Given the description of an element on the screen output the (x, y) to click on. 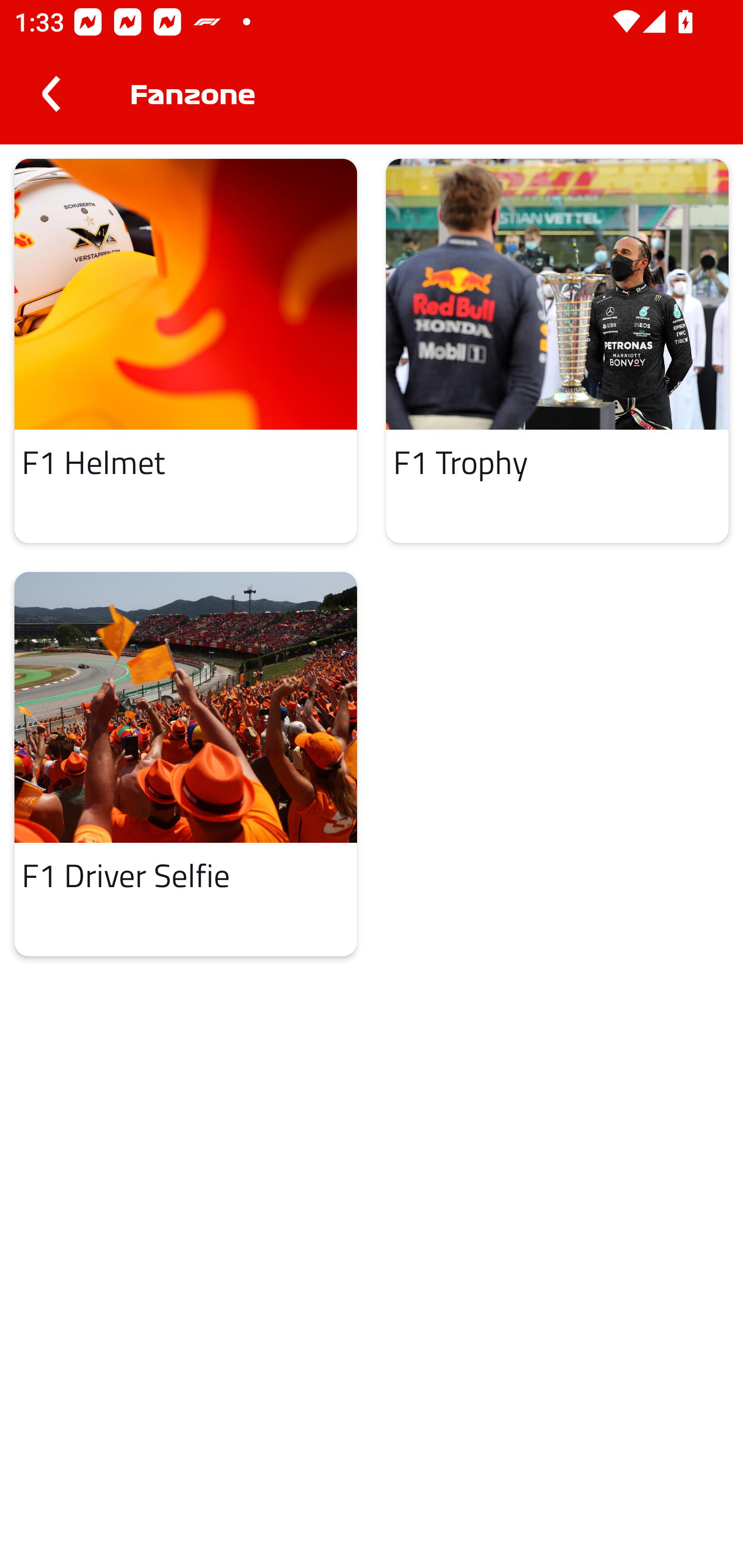
Navigate up (50, 93)
F1 Helmet (185, 350)
F1 Trophy (556, 350)
F1 Driver Selfie (185, 764)
